Given the description of an element on the screen output the (x, y) to click on. 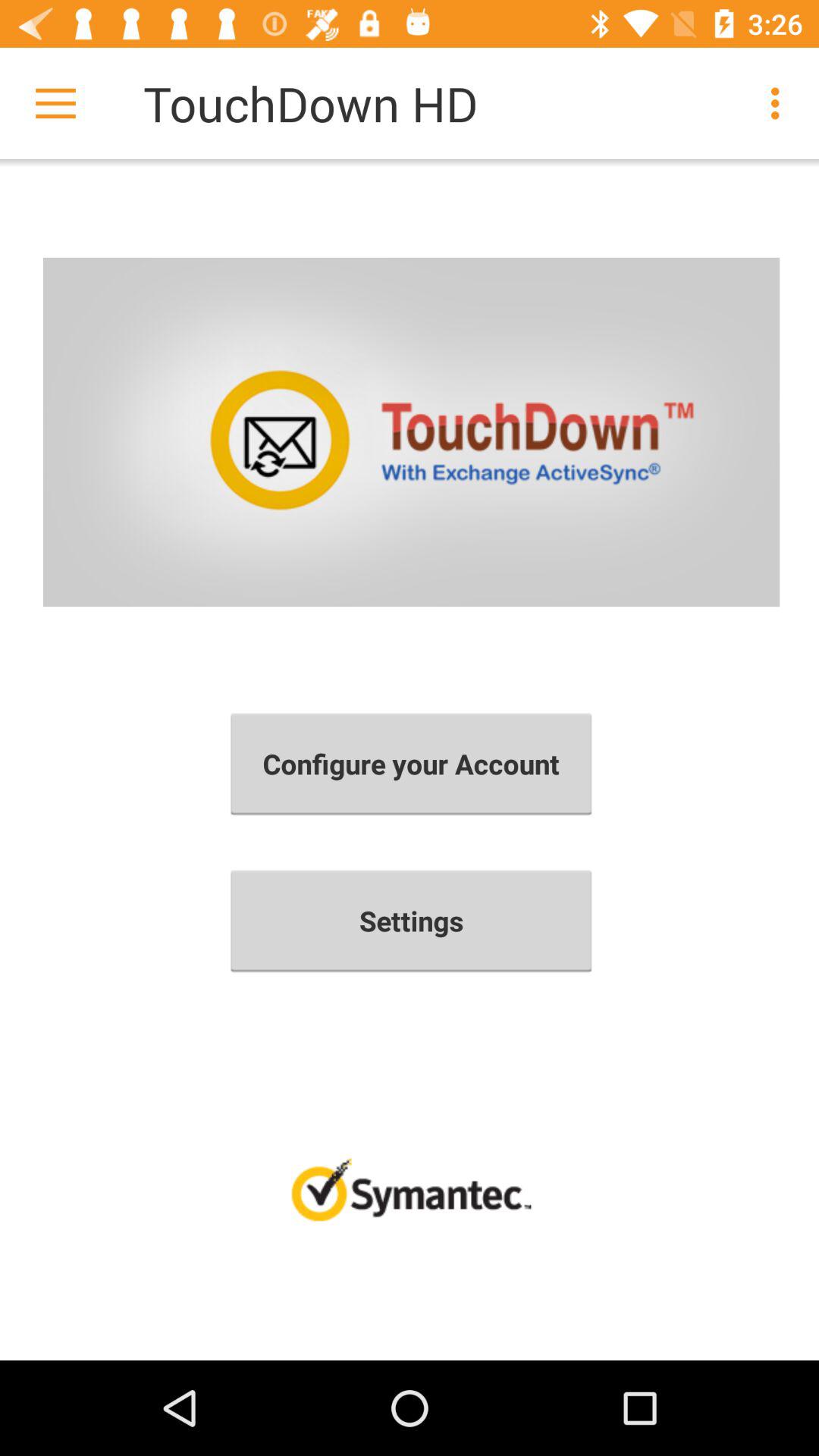
select icon at the top left corner (55, 103)
